Given the description of an element on the screen output the (x, y) to click on. 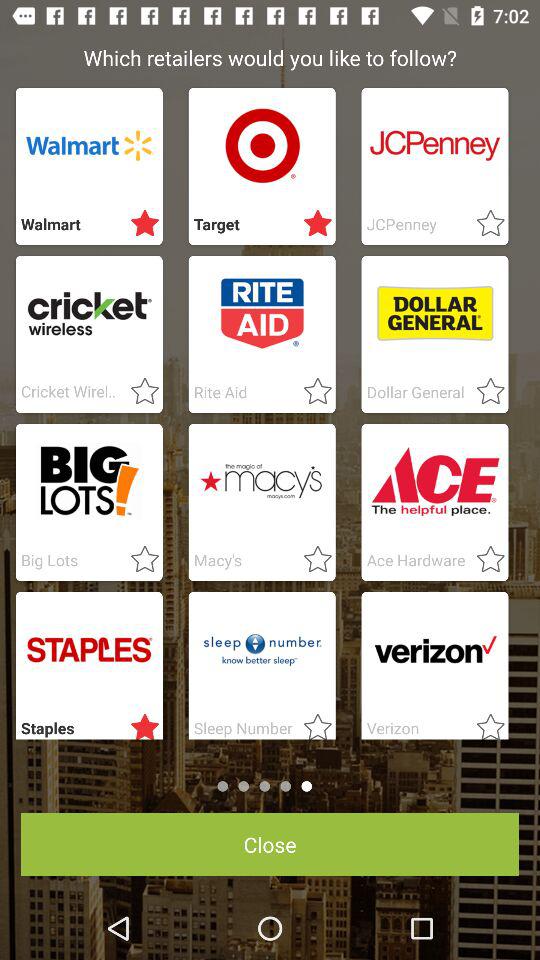
remove from favorites (312, 224)
